Given the description of an element on the screen output the (x, y) to click on. 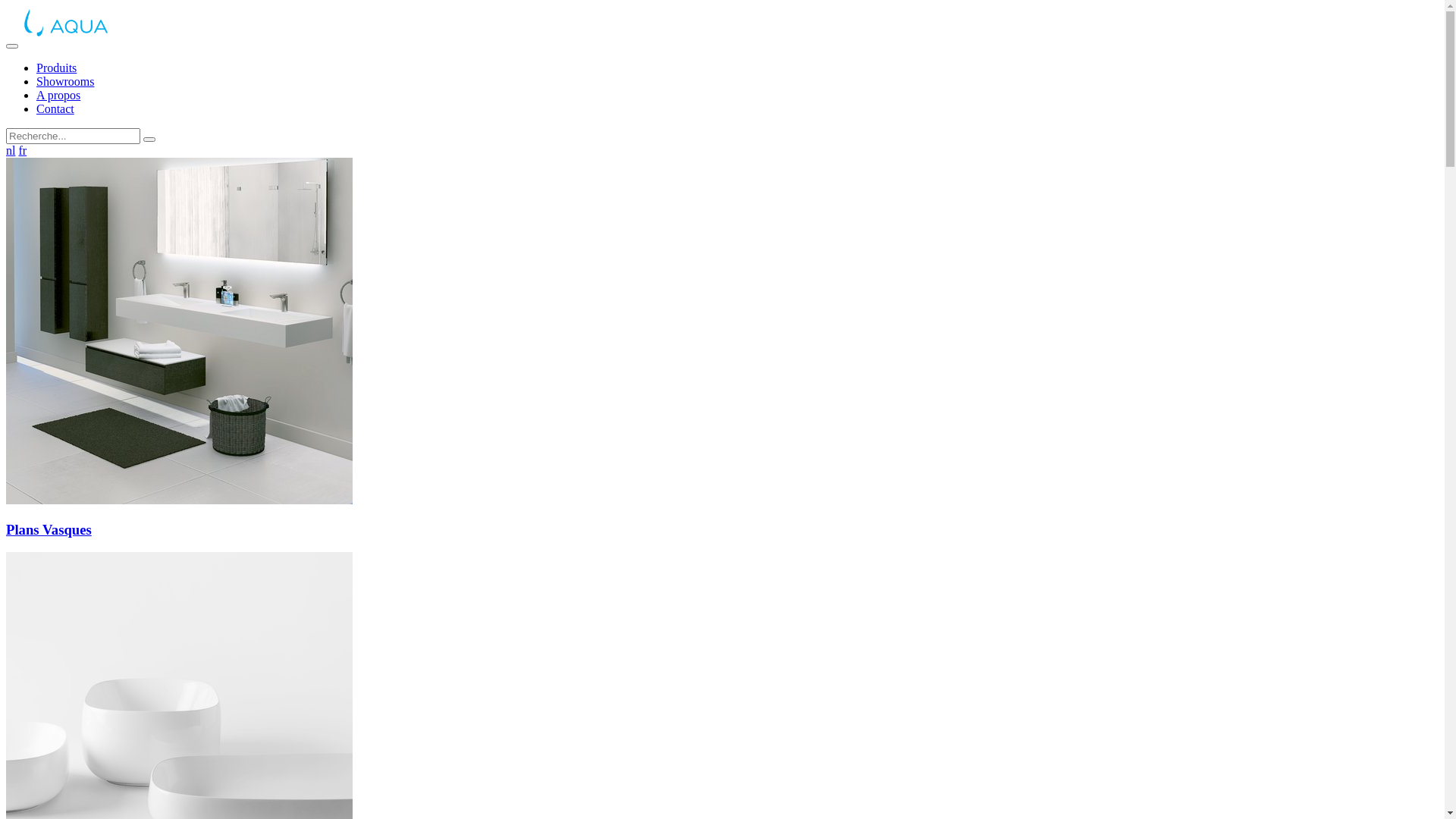
nl Element type: text (10, 150)
Produits Element type: text (56, 67)
Contact Element type: text (55, 108)
Plans Vasques Element type: text (722, 515)
A propos Element type: text (58, 94)
Plan Vasques dans une salle de bain design Element type: hover (179, 330)
Showrooms Element type: text (65, 81)
fr Element type: text (22, 150)
Aquasento logo Element type: hover (96, 26)
